Given the description of an element on the screen output the (x, y) to click on. 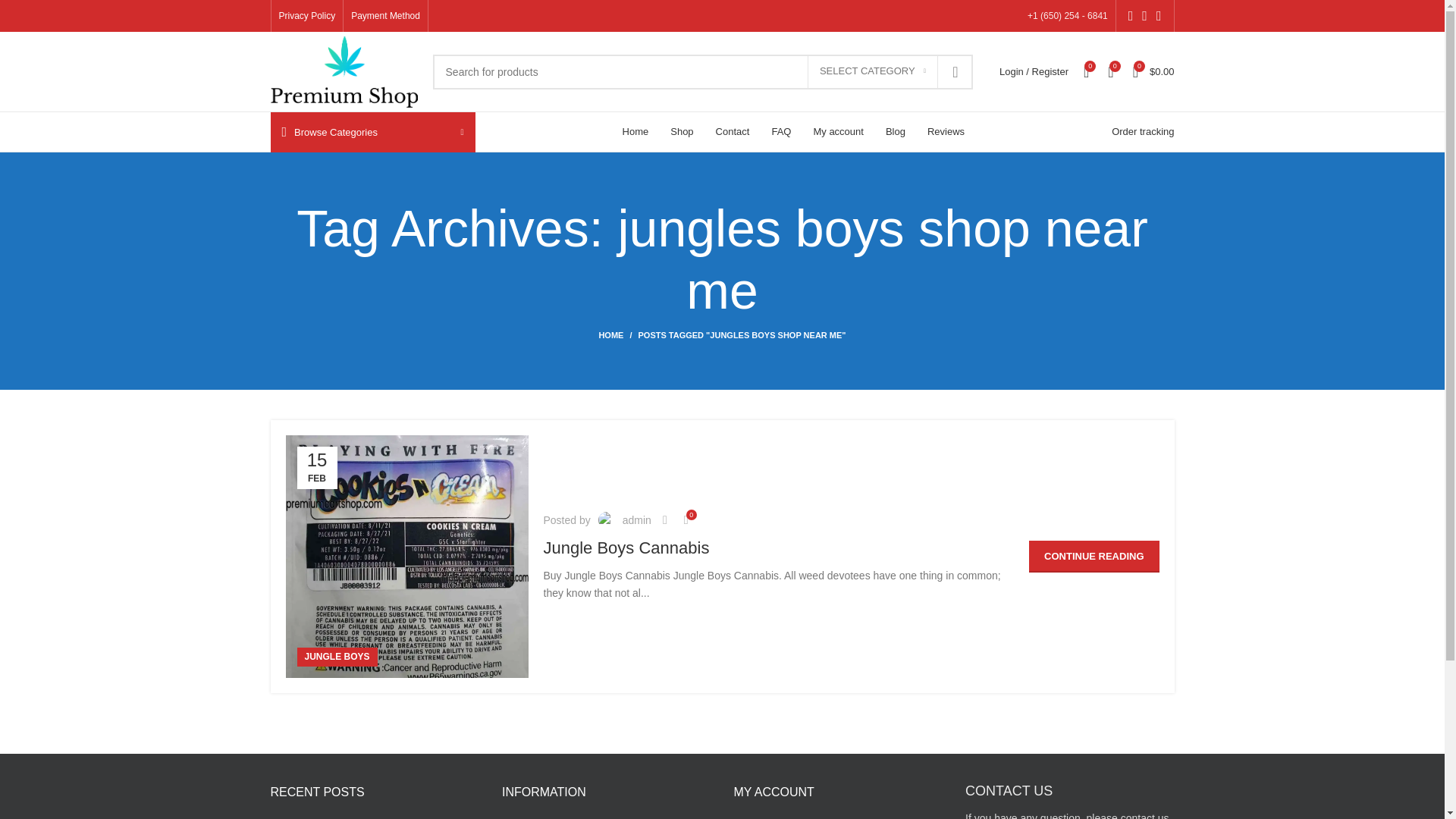
Privacy Policy (307, 15)
My account (1033, 71)
Search for products (702, 71)
SELECT CATEGORY (872, 71)
Shopping cart (1153, 71)
Payment Method (385, 15)
SELECT CATEGORY (872, 71)
